Given the description of an element on the screen output the (x, y) to click on. 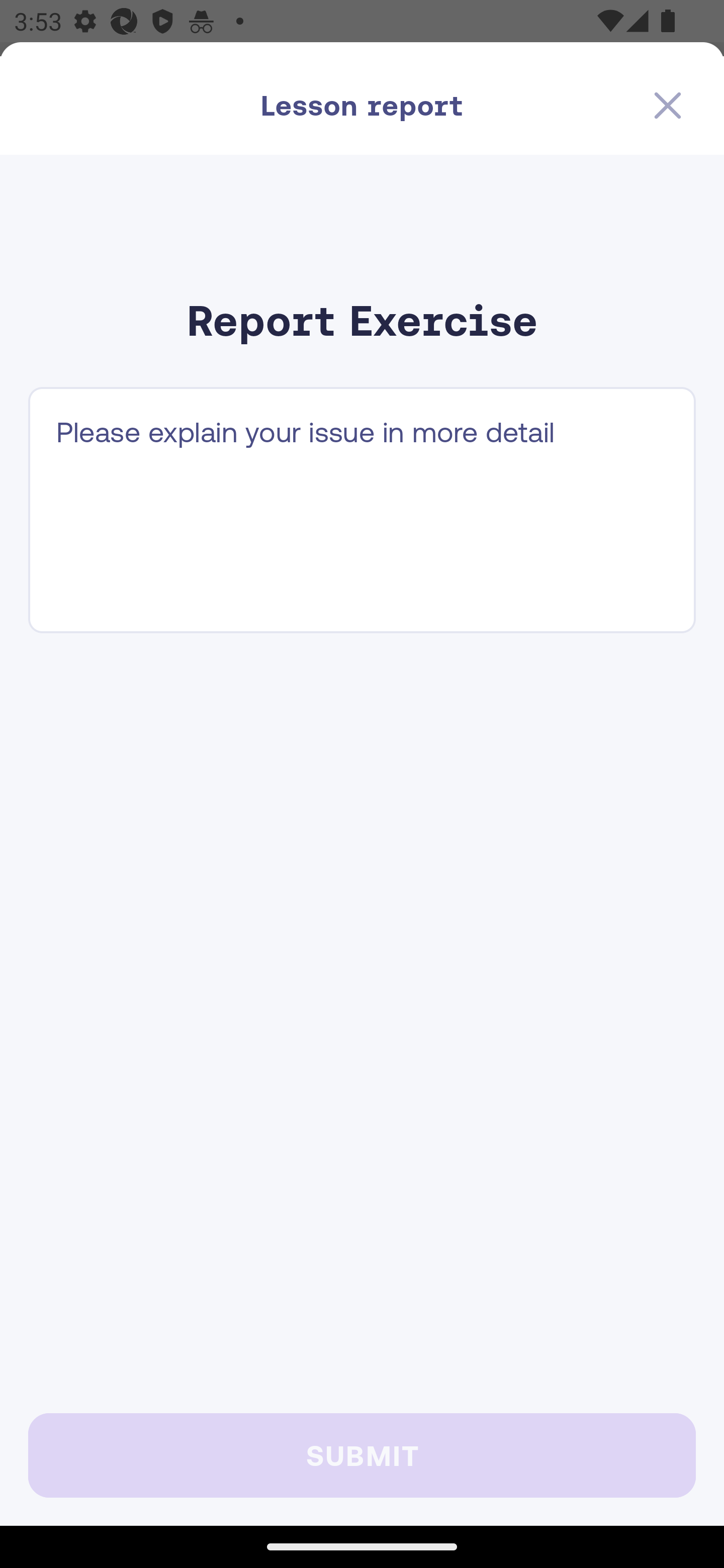
Please explain your issue in more detail (361, 510)
SUBMIT (361, 1454)
